Given the description of an element on the screen output the (x, y) to click on. 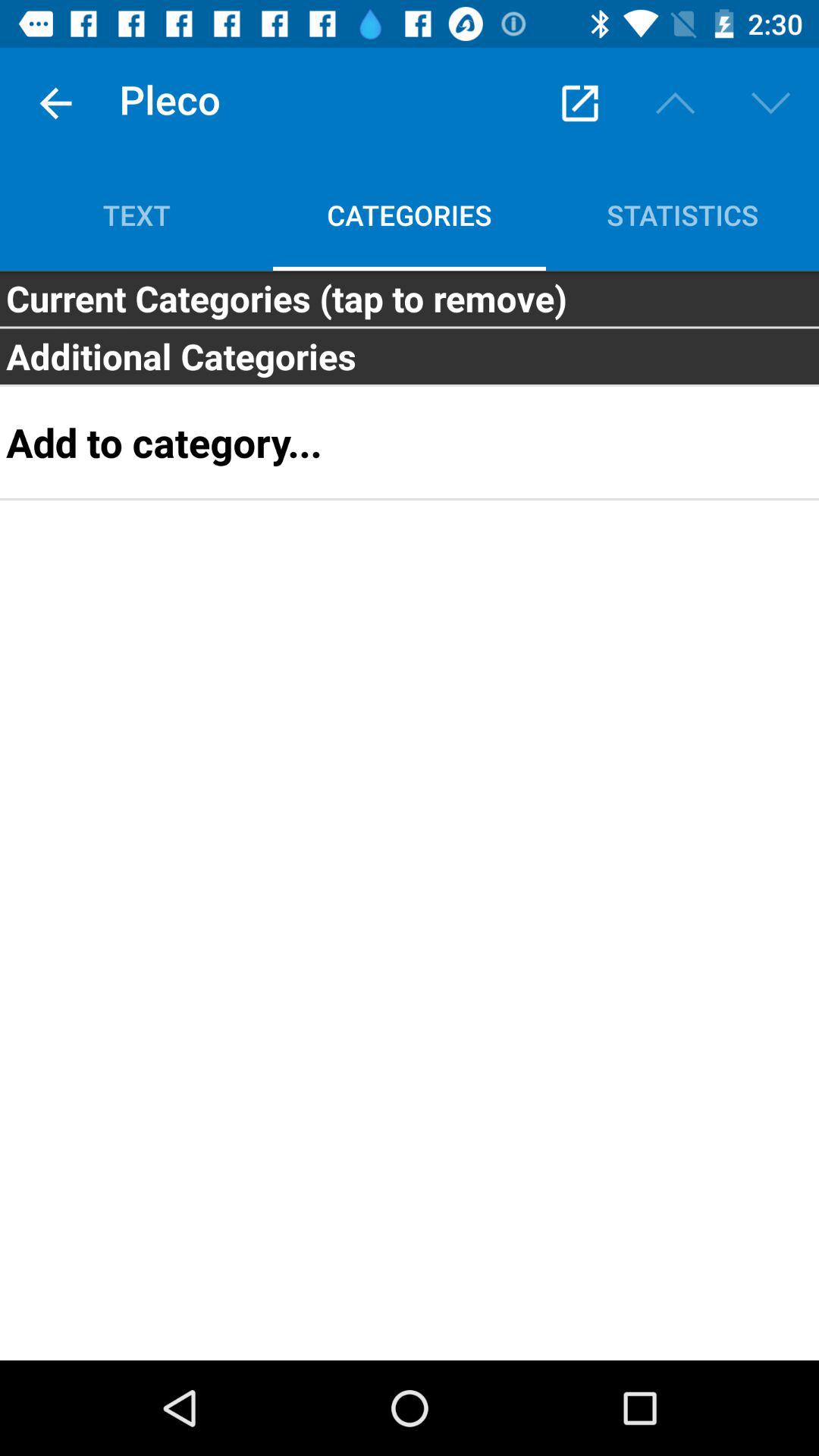
press item next to categories icon (136, 214)
